Given the description of an element on the screen output the (x, y) to click on. 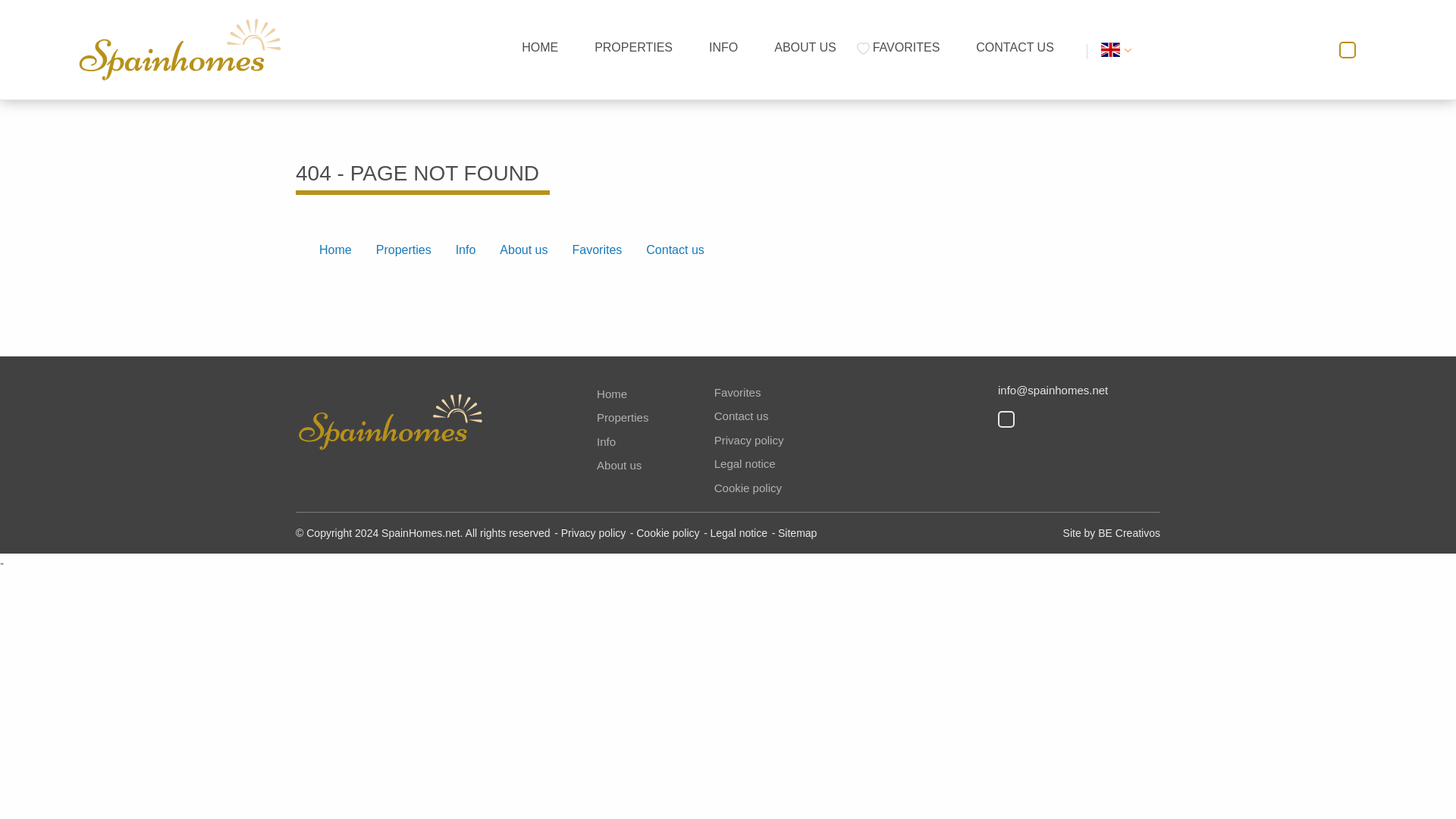
Favorites (906, 49)
Cookie policy (747, 487)
Info (605, 440)
Properties (404, 249)
Privacy policy (749, 440)
About us (619, 464)
Contact us (1014, 49)
FAVORITES (906, 49)
Properties (621, 417)
Favorites (596, 249)
